Given the description of an element on the screen output the (x, y) to click on. 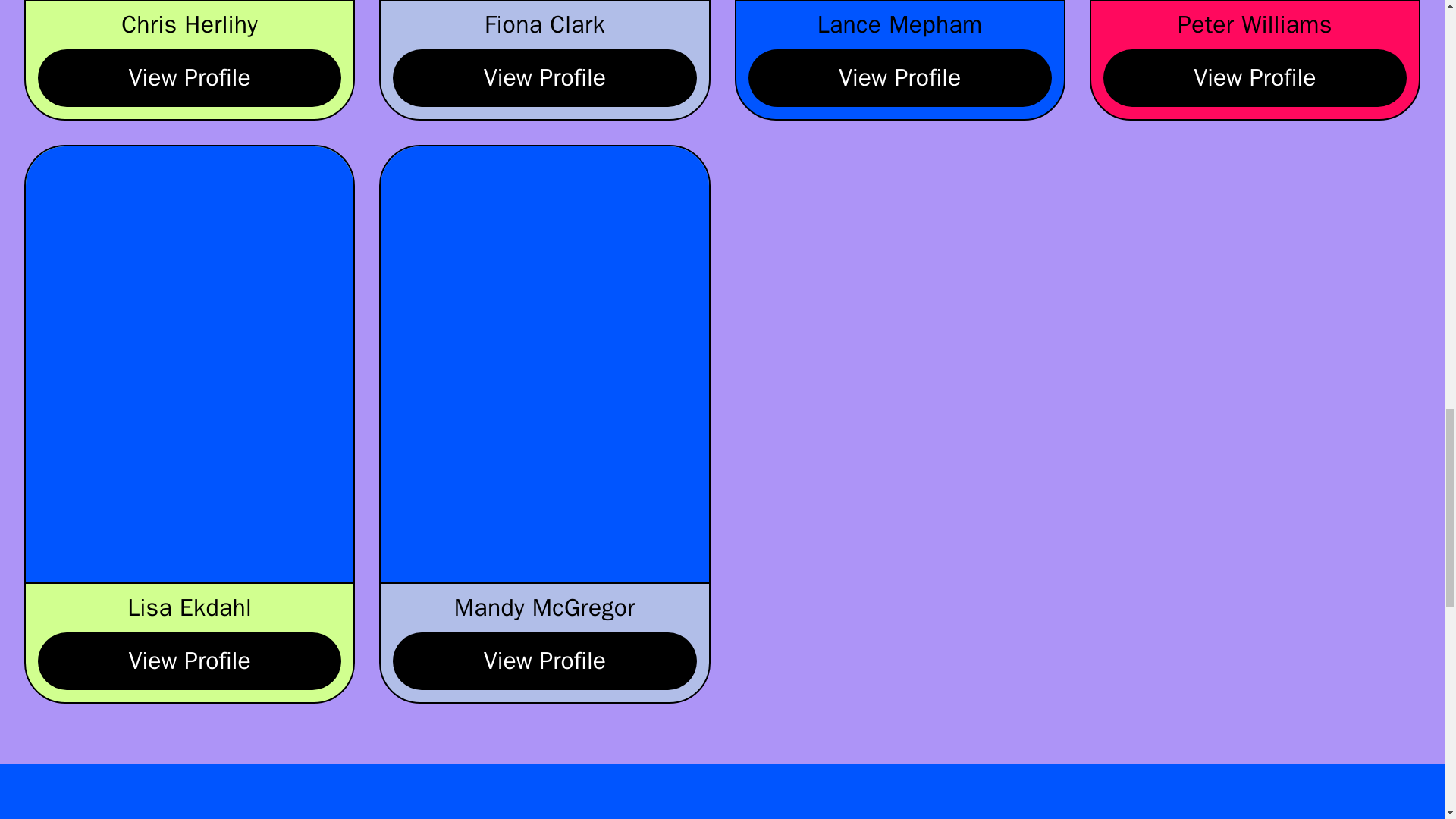
View Profile (899, 78)
View Profile (188, 78)
View Profile (1254, 78)
View Profile (544, 78)
View Profile (188, 661)
View Profile (544, 661)
